Given the description of an element on the screen output the (x, y) to click on. 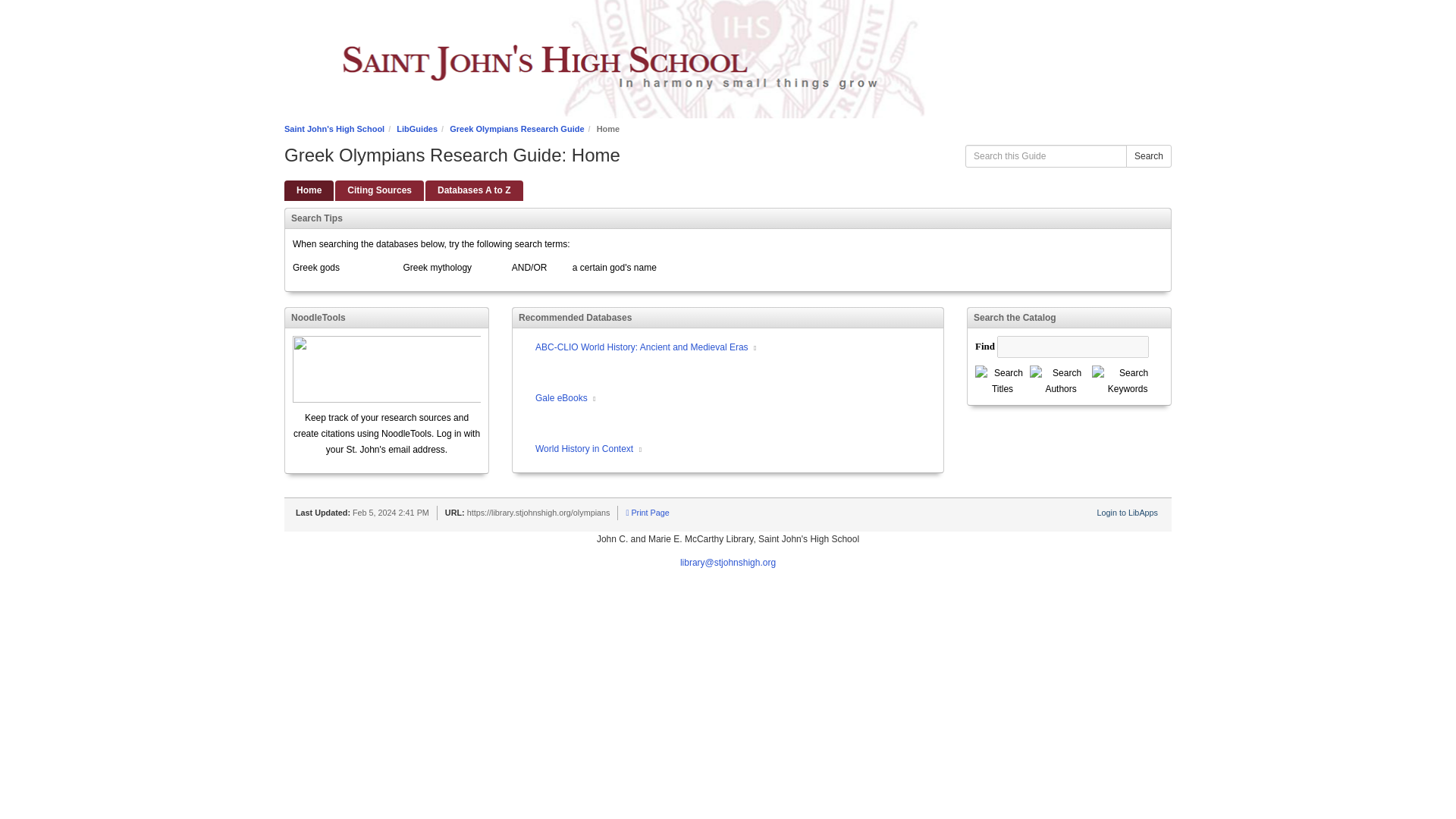
Search Titles (1002, 381)
Search (1148, 155)
Saint John's High School (333, 128)
This link opens in a new window (755, 348)
ABC-CLIO World History: Ancient and Medieval Eras (735, 348)
Gale eBooks (735, 399)
World History in Context (735, 449)
This link opens in a new window (593, 398)
Greek Olympians Research Guide (516, 128)
Databases A to Z (473, 190)
